Given the description of an element on the screen output the (x, y) to click on. 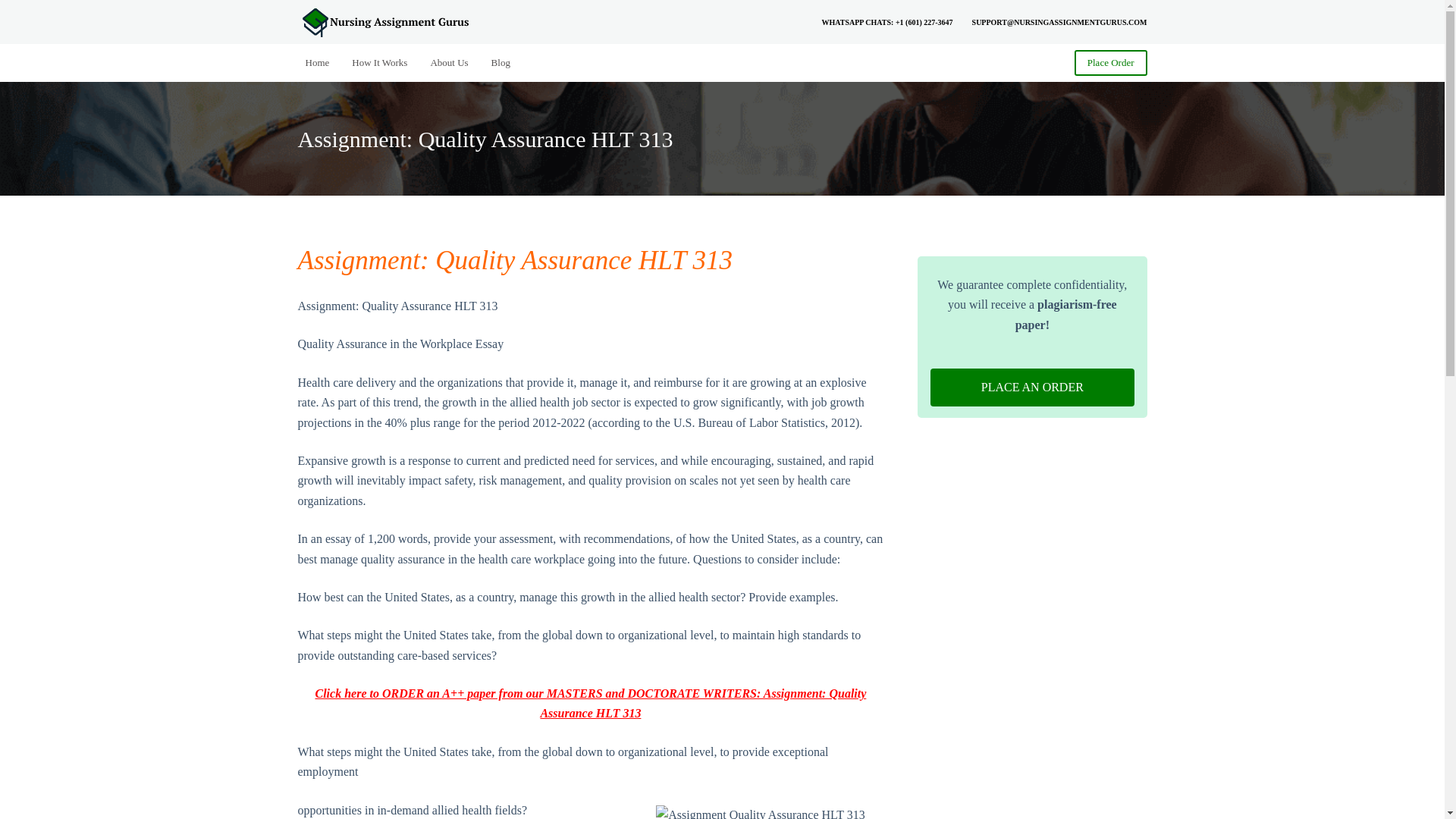
About Us (449, 62)
Home (322, 62)
PLACE AN ORDER (1032, 387)
Assignment: Quality Assurance HLT 313 (722, 138)
Place Order (1110, 62)
Skip to content (15, 7)
Blog (500, 62)
Assignment: Quality Assurance HLT 313 (514, 260)
How It Works (379, 62)
